Given the description of an element on the screen output the (x, y) to click on. 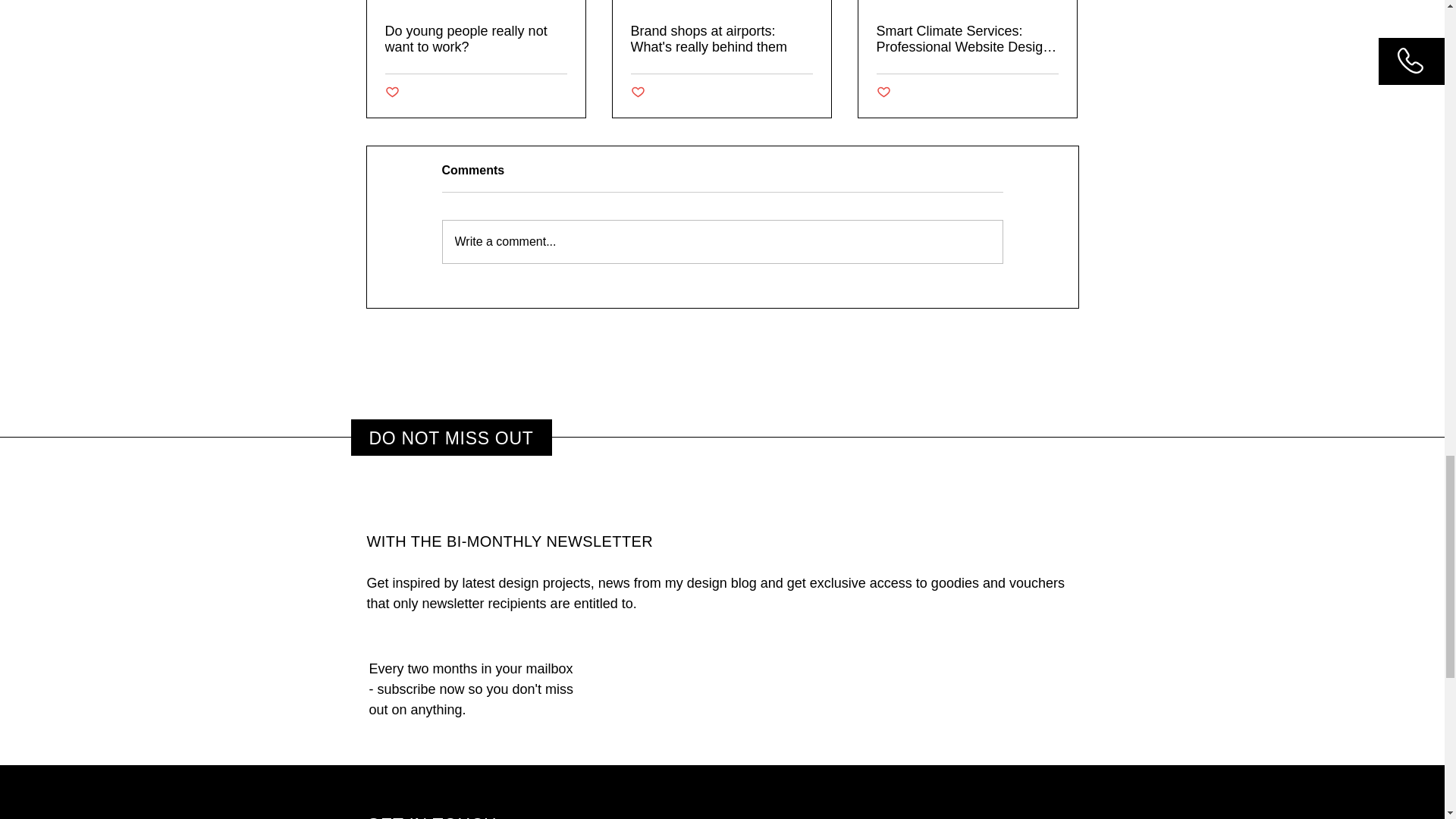
Smart Climate Services: Professional Website Design with Wix (967, 39)
Post not marked as liked (883, 92)
Brand shops at airports: What's really behind them (721, 39)
Write a comment... (722, 241)
Post not marked as liked (637, 92)
Do young people really not want to work? (476, 39)
Post not marked as liked (391, 92)
